Given the description of an element on the screen output the (x, y) to click on. 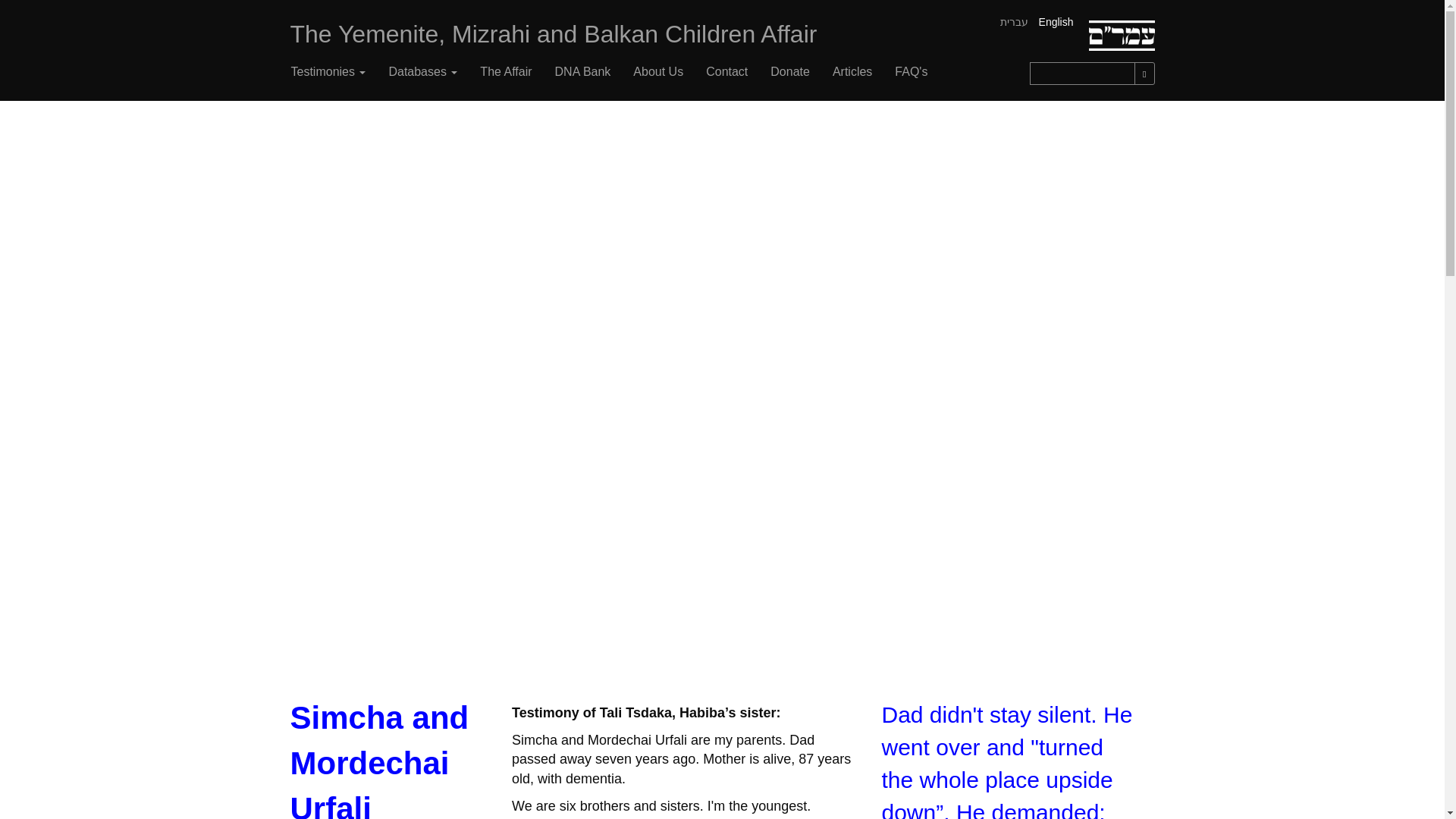
FAQ's (911, 71)
Contact (726, 71)
DNA Bank (583, 71)
About Us (657, 71)
Donate (789, 71)
The Yemenite, Mizrahi and Balkan Children Affair (553, 34)
Testimonies (328, 71)
The Affair (505, 71)
Articles (852, 71)
Databases (422, 71)
